Given the description of an element on the screen output the (x, y) to click on. 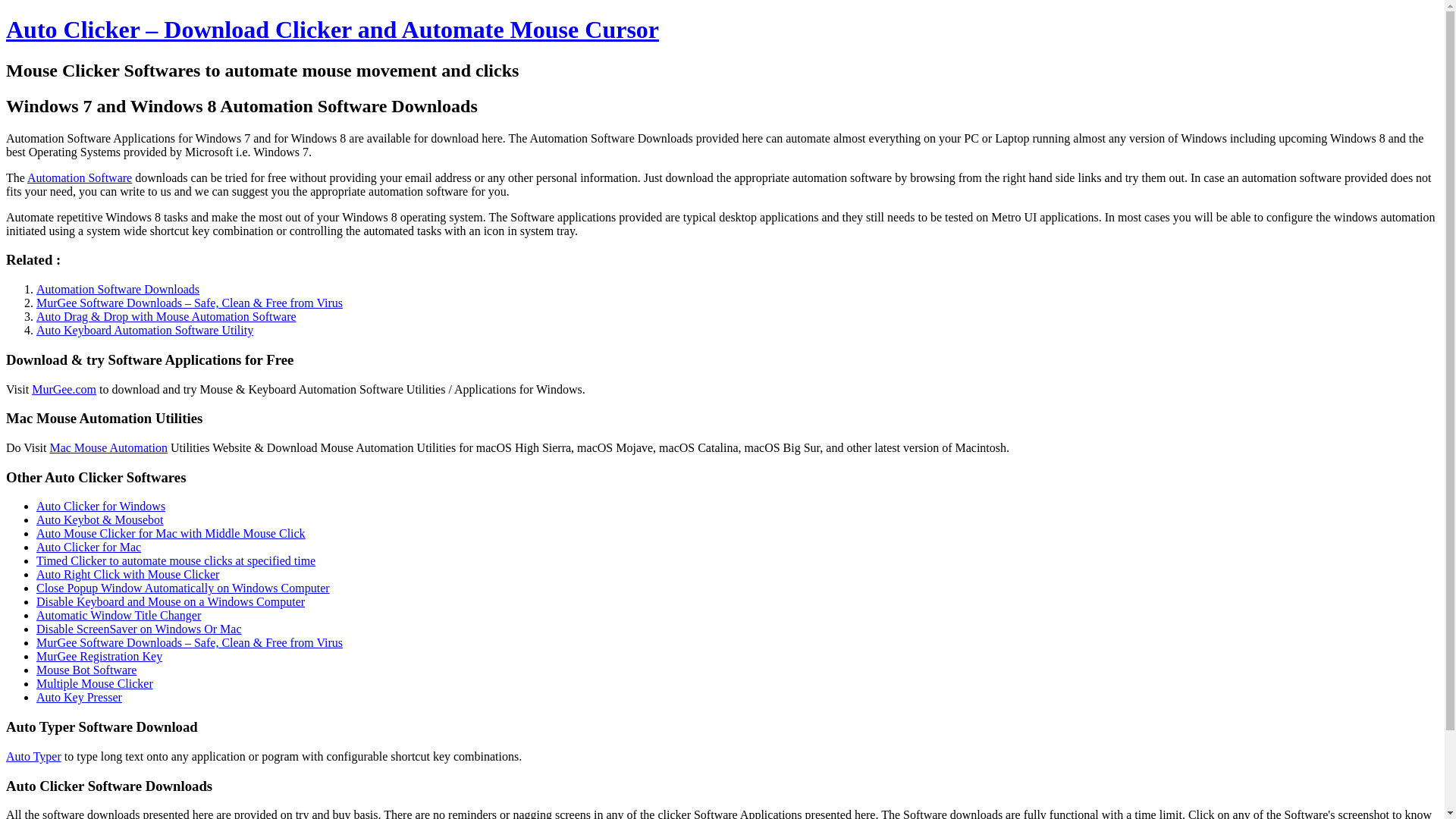
Mac Automation Utilities (108, 447)
Mac Mouse Automation (108, 447)
MurGee.com (64, 389)
Multiple Mouse Clicker (94, 683)
Automation Software Downloads (117, 288)
Auto Keyboard Automation Software Utility (144, 329)
Timed Clicker to automate mouse clicks at specified time (175, 560)
Auto Clicker for Mac (88, 546)
MurGee Registration Key (98, 656)
Auto Key Presser (79, 697)
Close Popup Window Automatically on Windows Computer (183, 587)
Auto Mouse Clicker for Mac with Middle Mouse Click (170, 533)
Automatic Window Title Changer (118, 615)
Mouse Bot Software (86, 669)
Automation Software Downloads (117, 288)
